Given the description of an element on the screen output the (x, y) to click on. 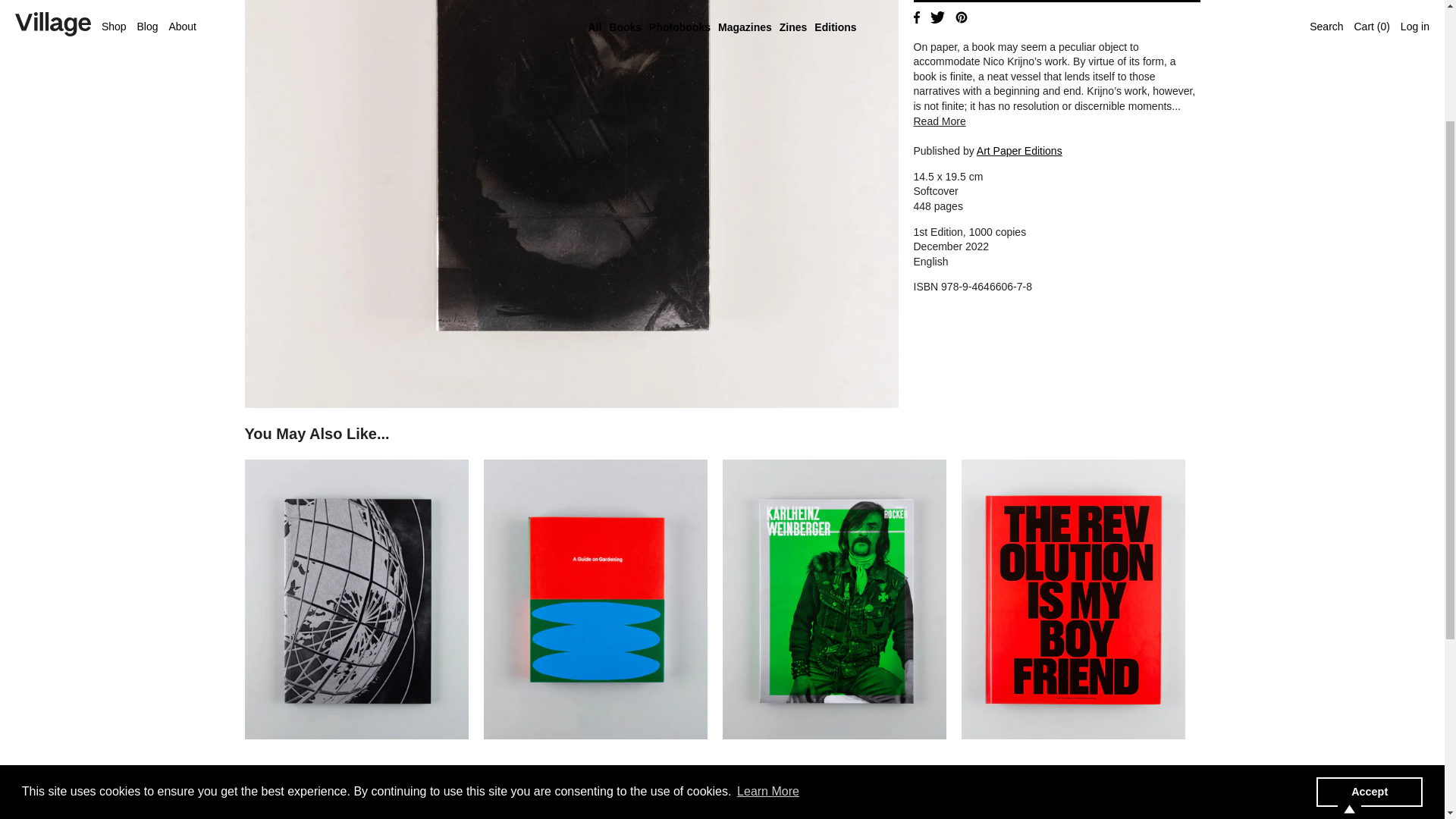
Accept (1369, 616)
Learn More (768, 616)
